Given the description of an element on the screen output the (x, y) to click on. 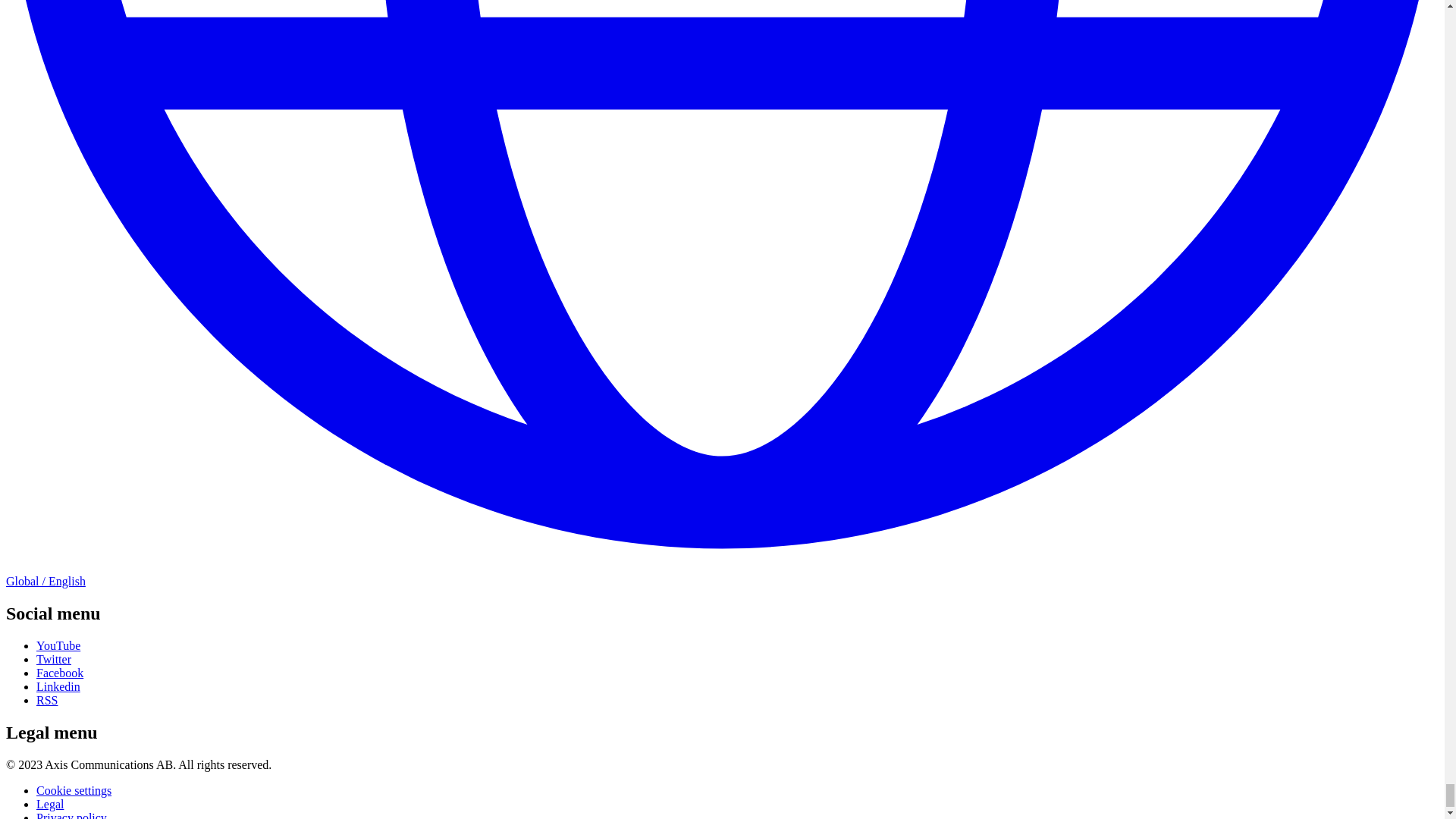
RSS (47, 699)
YouTube (58, 645)
Facebook (59, 672)
Twitter (53, 658)
